Given the description of an element on the screen output the (x, y) to click on. 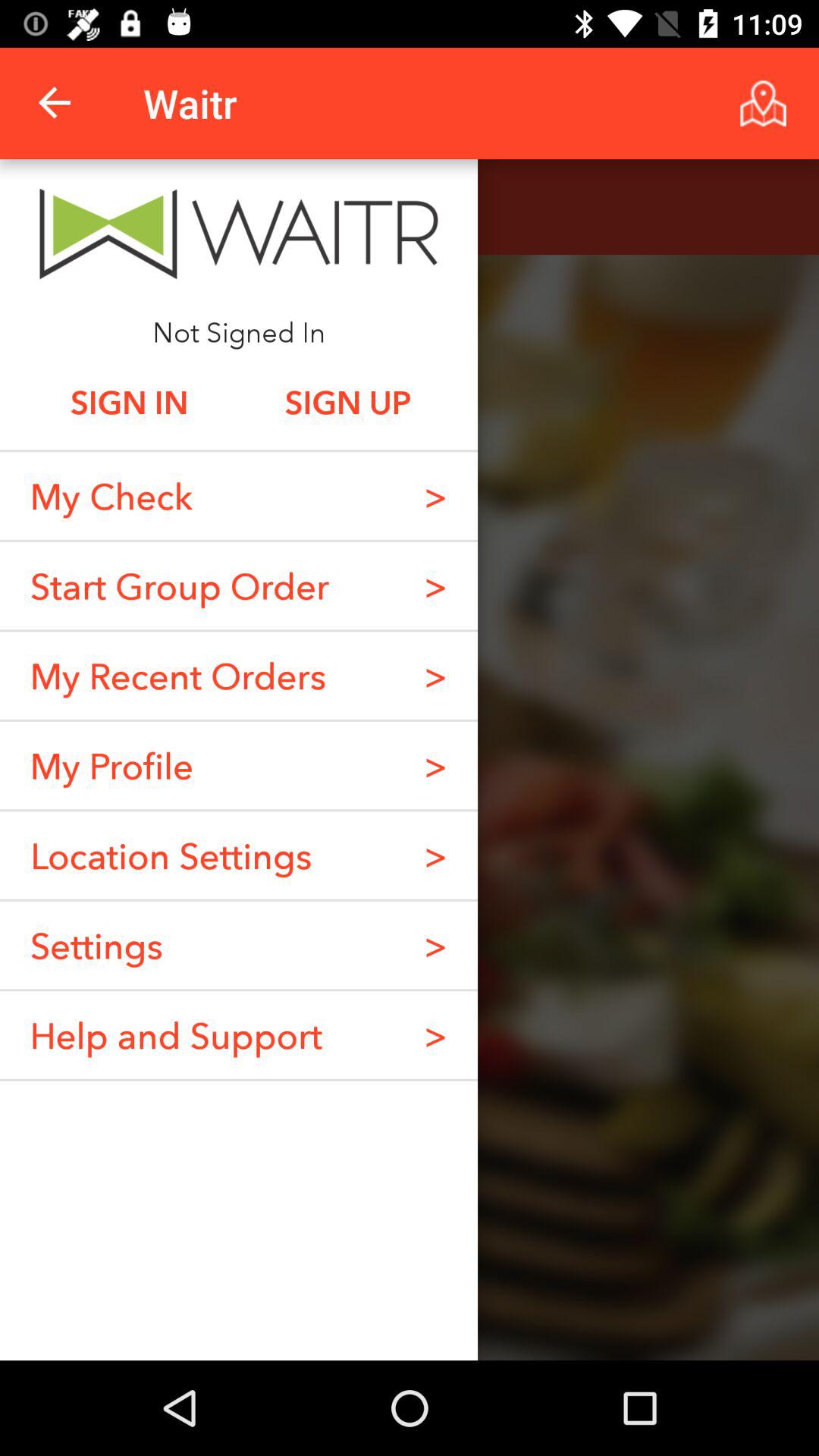
tap the item to the right of the help and support (435, 945)
